Given the description of an element on the screen output the (x, y) to click on. 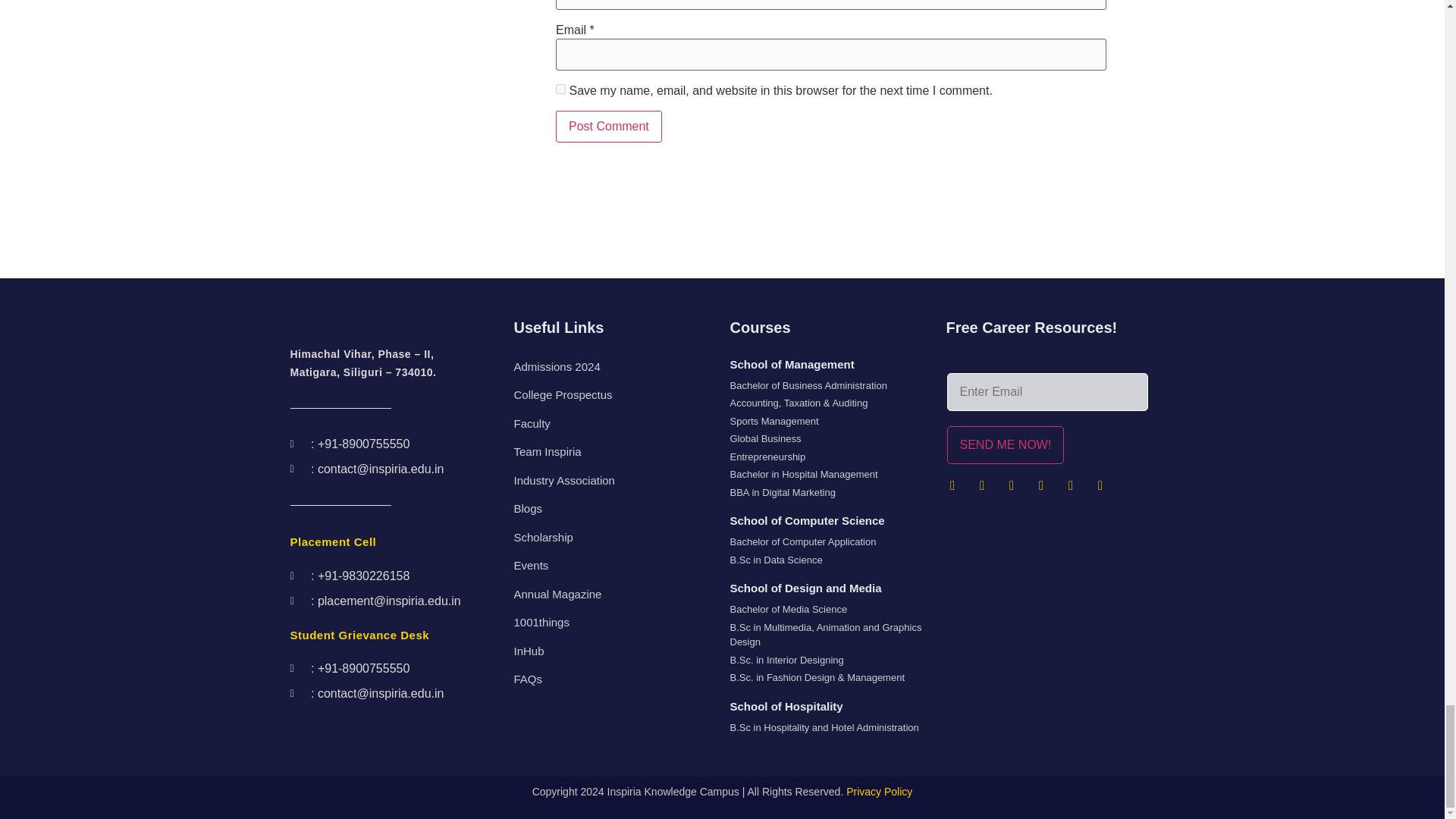
Post Comment (609, 126)
SEND ME NOW! (1005, 444)
yes (561, 89)
